Given the description of an element on the screen output the (x, y) to click on. 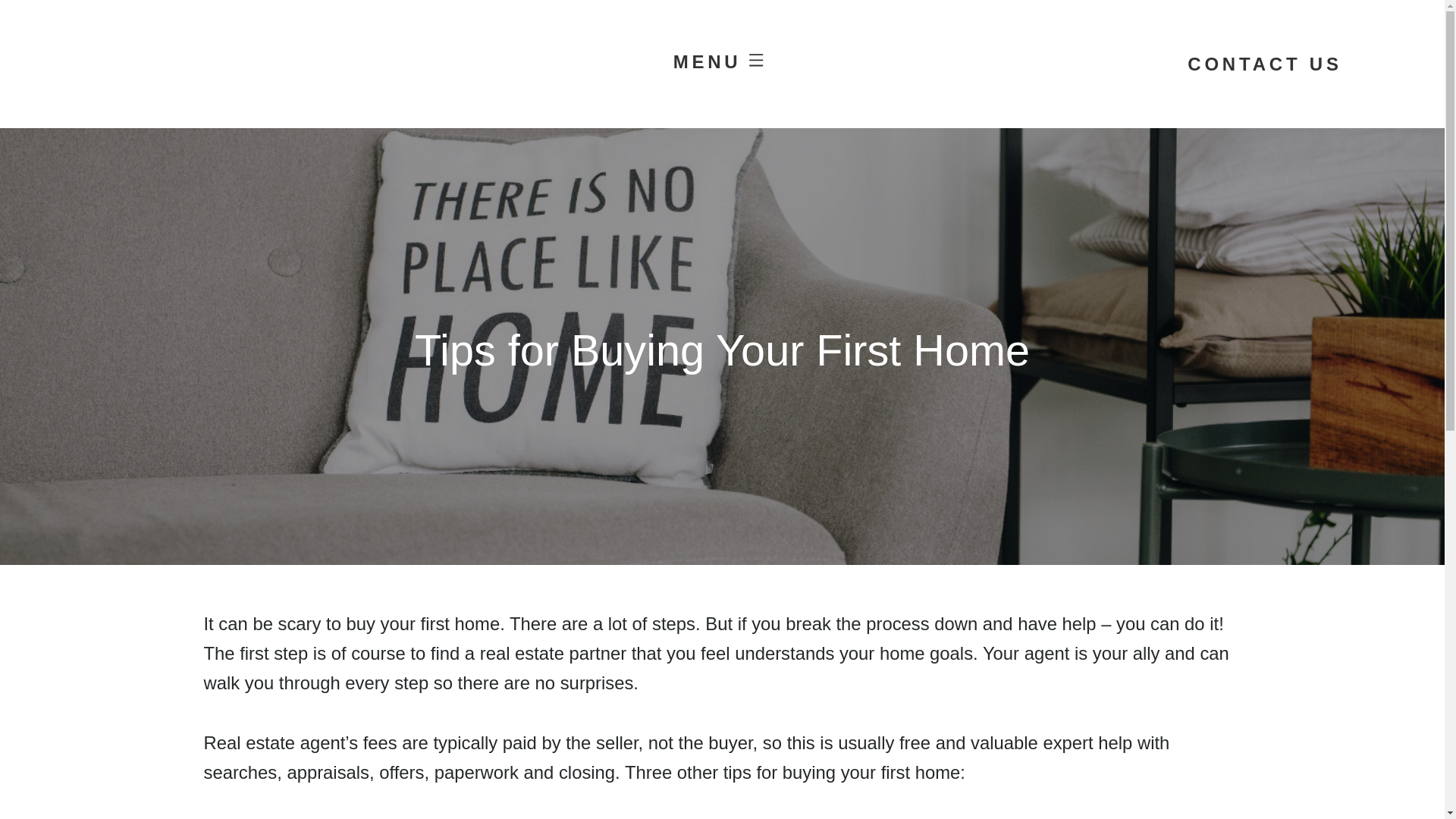
CONTACT US (1152, 71)
MENU (721, 65)
